Given the description of an element on the screen output the (x, y) to click on. 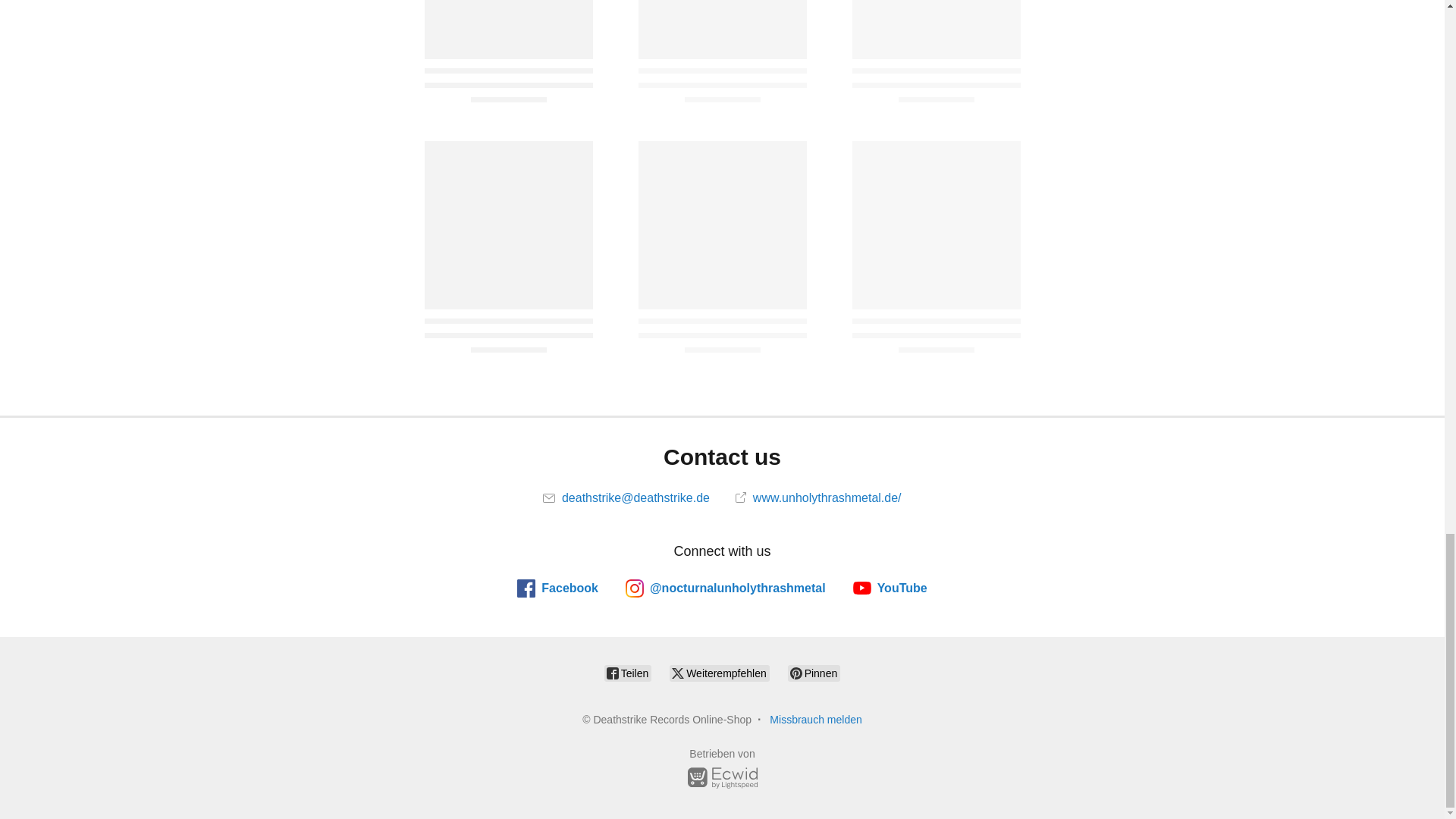
Weiterempfehlen (718, 673)
Missbrauch melden (815, 719)
YouTube (890, 588)
Facebook (557, 588)
Betrieben von (722, 770)
Teilen (627, 673)
Pinnen (813, 673)
